Given the description of an element on the screen output the (x, y) to click on. 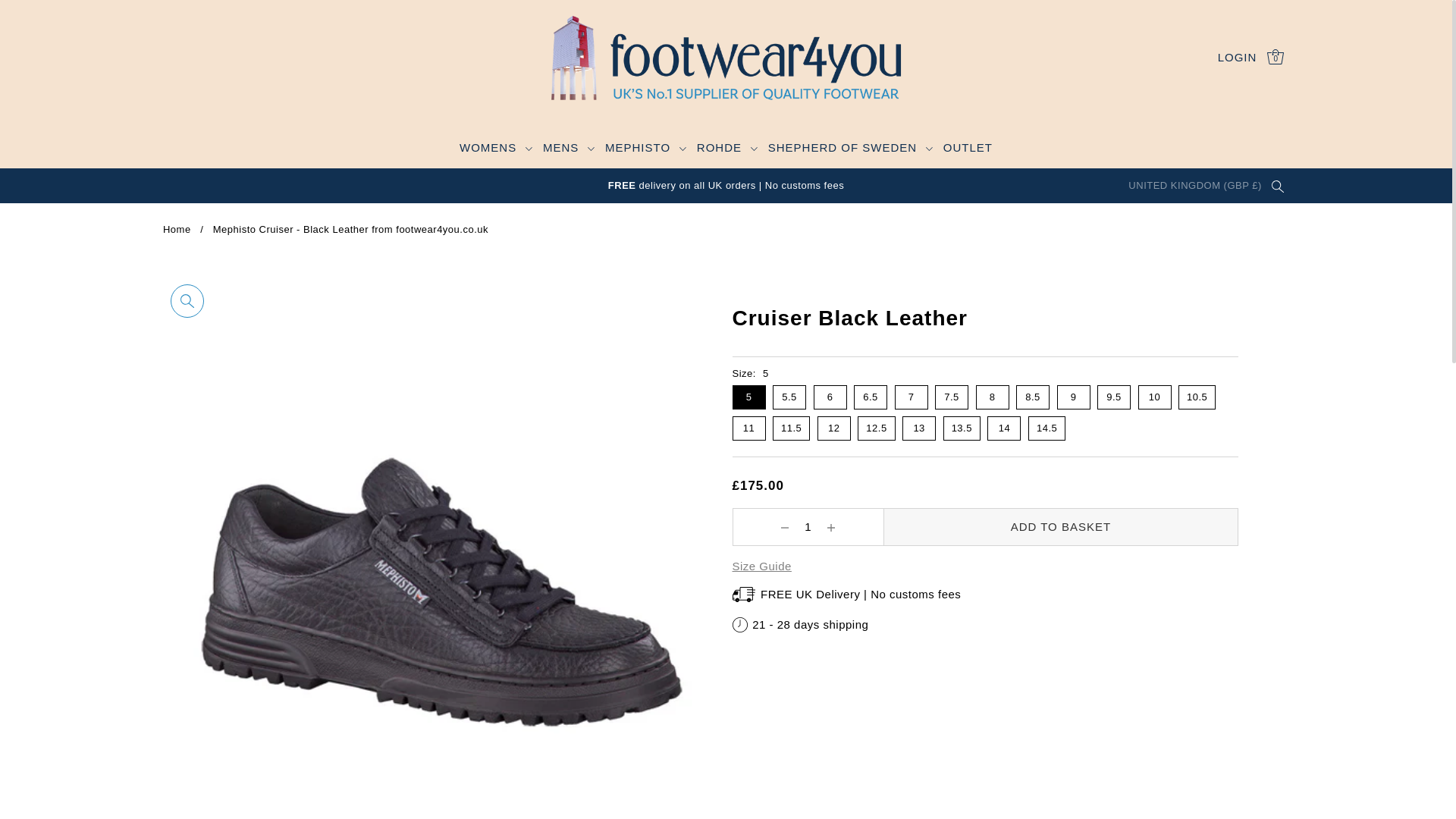
Home (176, 229)
click to zoom-in (186, 300)
